Given the description of an element on the screen output the (x, y) to click on. 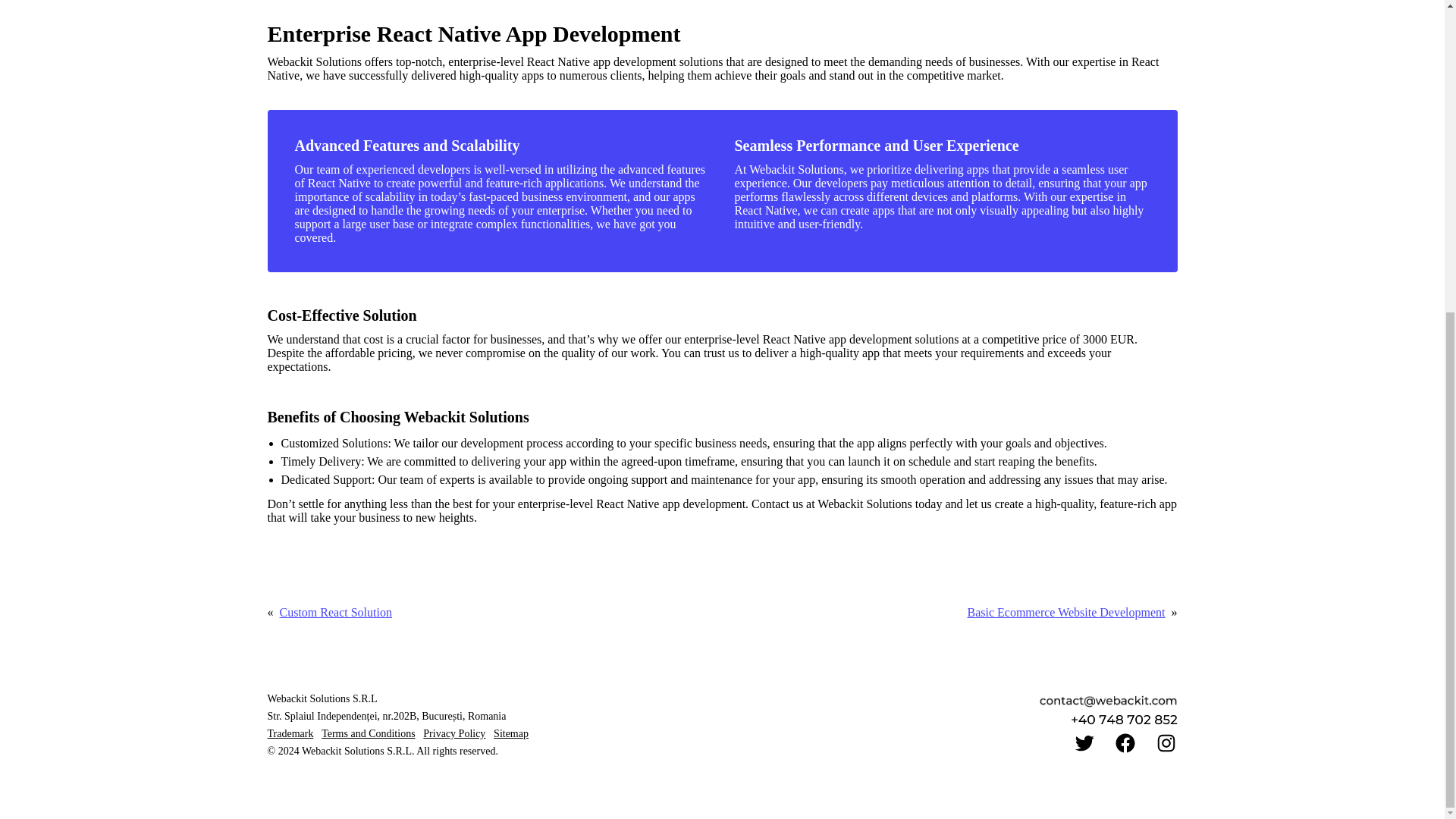
Trademark (289, 734)
Custom React Solution (335, 612)
information is secured against bots. (1123, 719)
Basic Ecommerce Website Development (1067, 612)
information is secured against bots. (1108, 701)
